Given the description of an element on the screen output the (x, y) to click on. 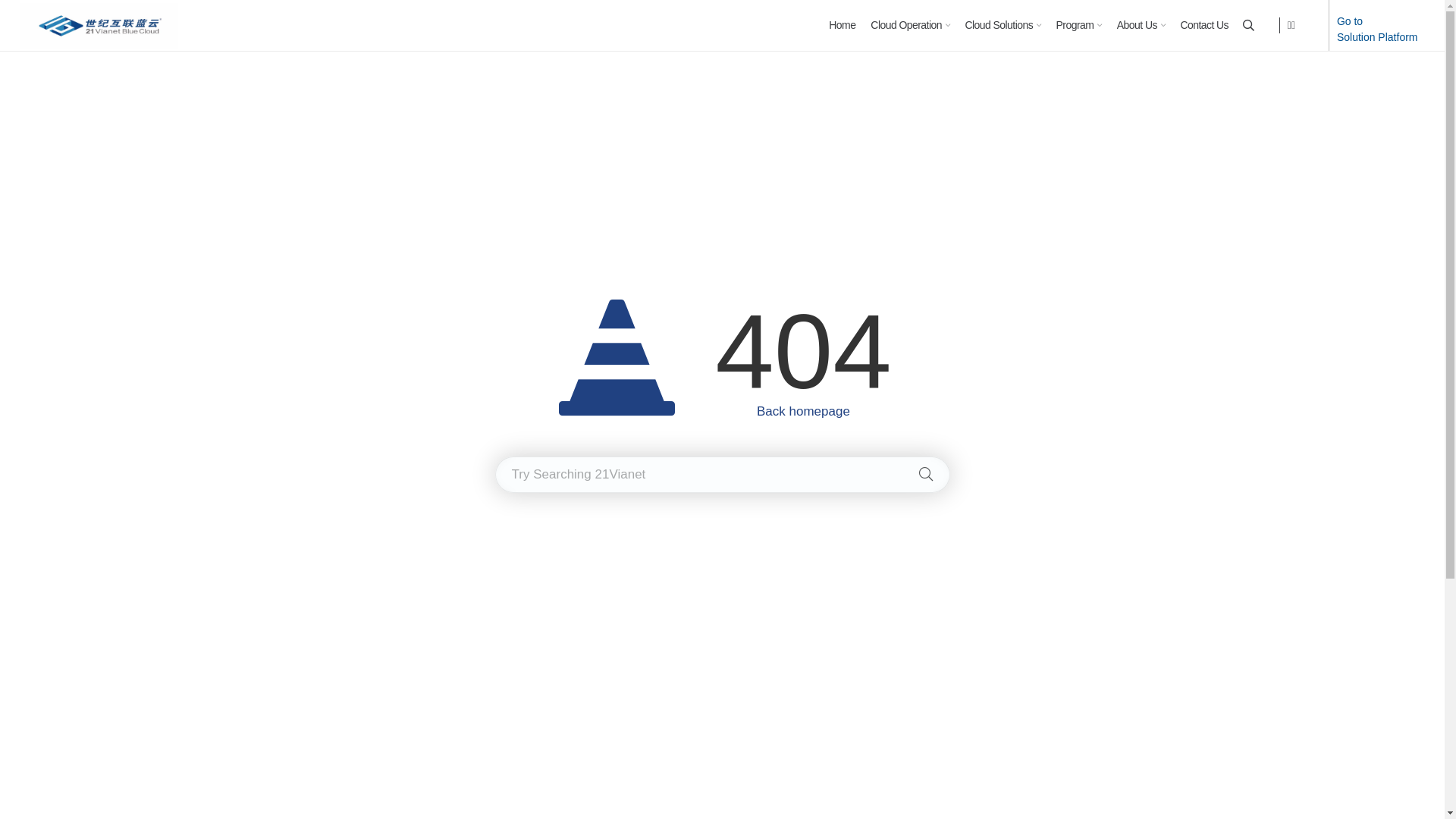
Cloud Solutions Element type: text (1002, 25)
Cloud Operation Element type: text (909, 25)
Contact Us Element type: text (1204, 25)
Home Element type: text (841, 25)
Back homepage Element type: text (803, 411)
Program Element type: text (1078, 25)
Go to
Solution Platform Element type: text (1377, 29)
About Us Element type: text (1141, 25)
